Given the description of an element on the screen output the (x, y) to click on. 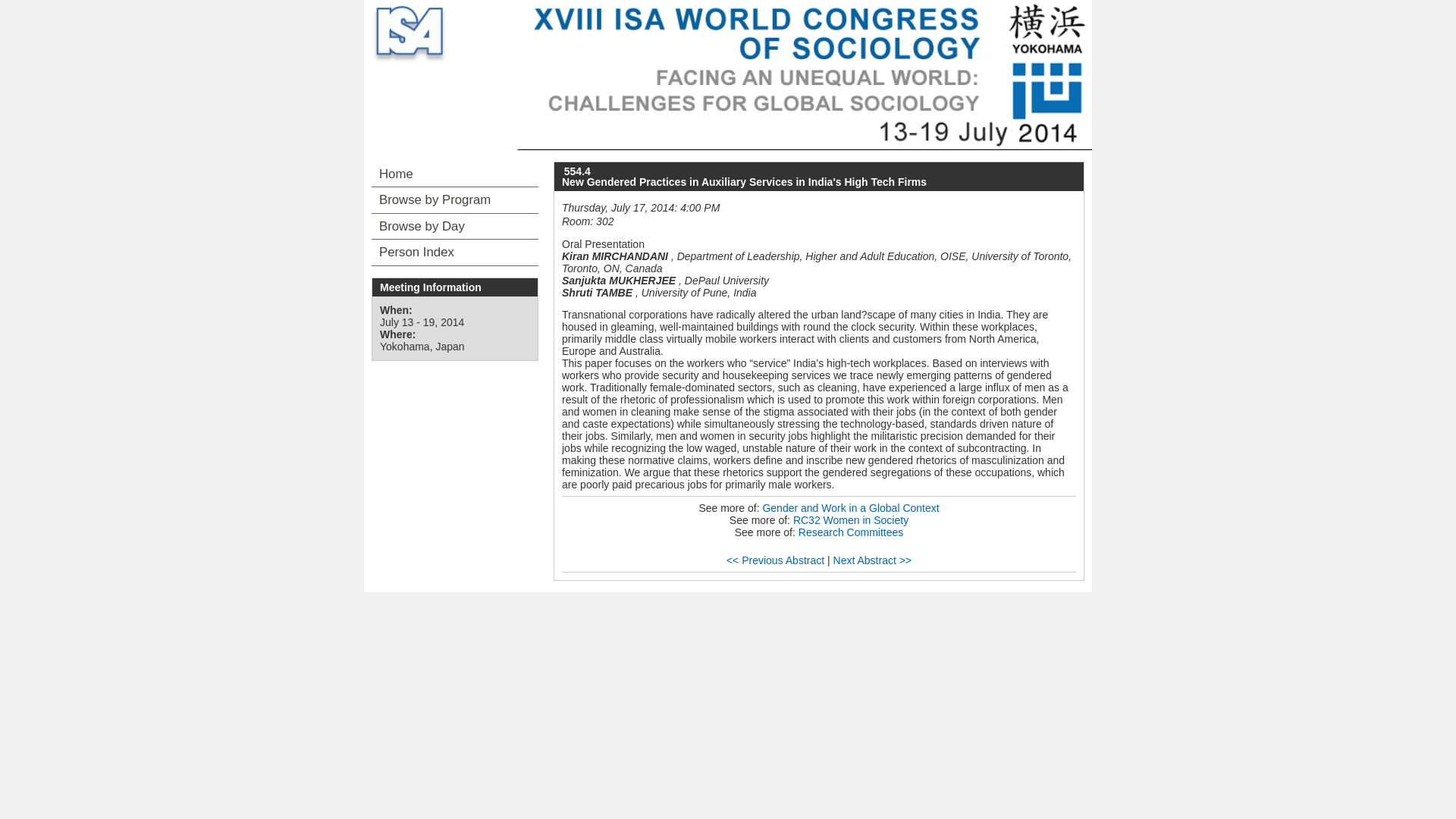
Person Index (454, 252)
Research Committees (850, 532)
Home (454, 174)
RC32 Women in Society (850, 520)
Browse by Day (454, 226)
Browse by Program (454, 199)
Gender and Work in a Global Context (850, 508)
